Given the description of an element on the screen output the (x, y) to click on. 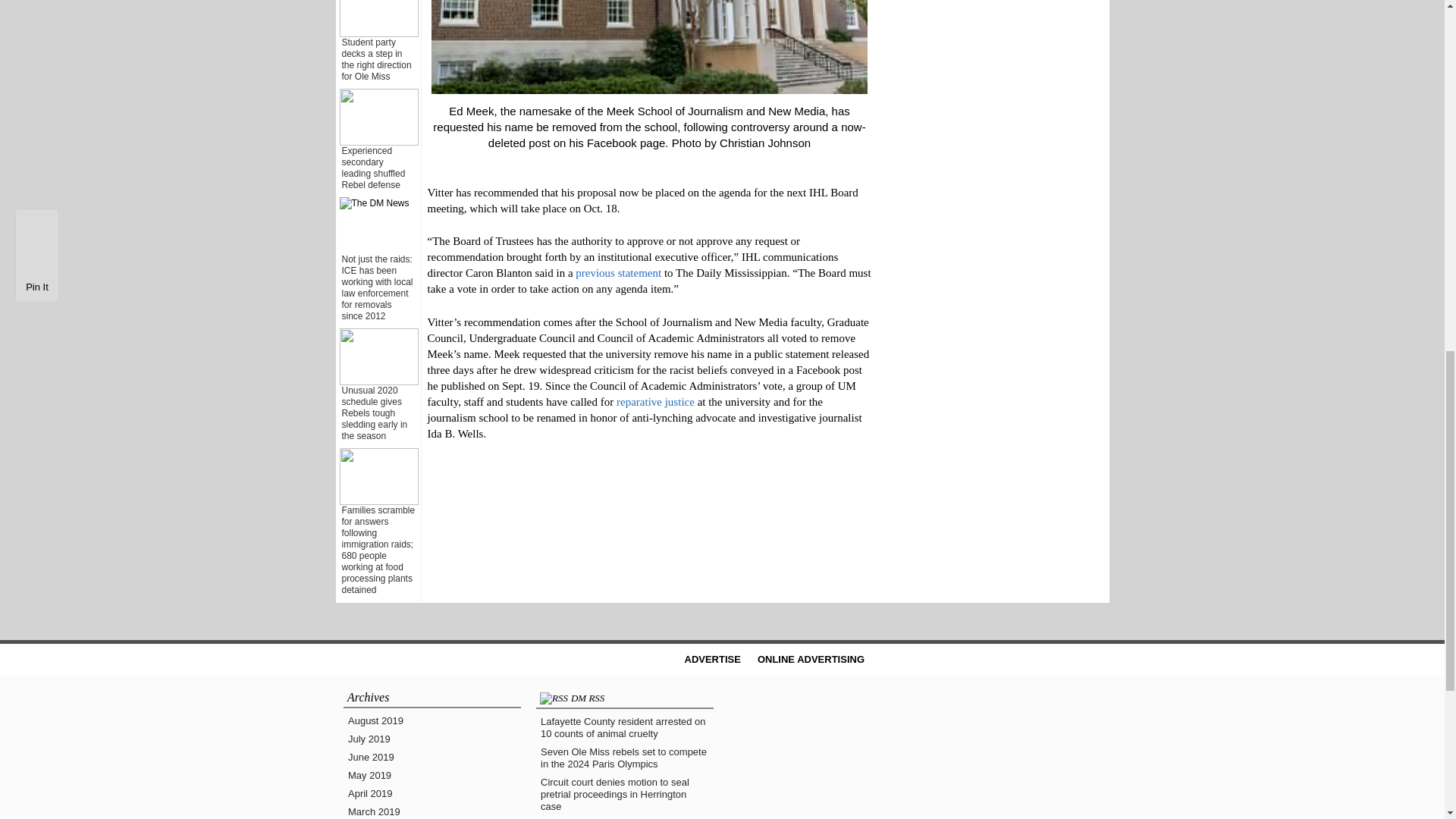
Experienced secondary leading shuffled Rebel defense (372, 167)
